Given the description of an element on the screen output the (x, y) to click on. 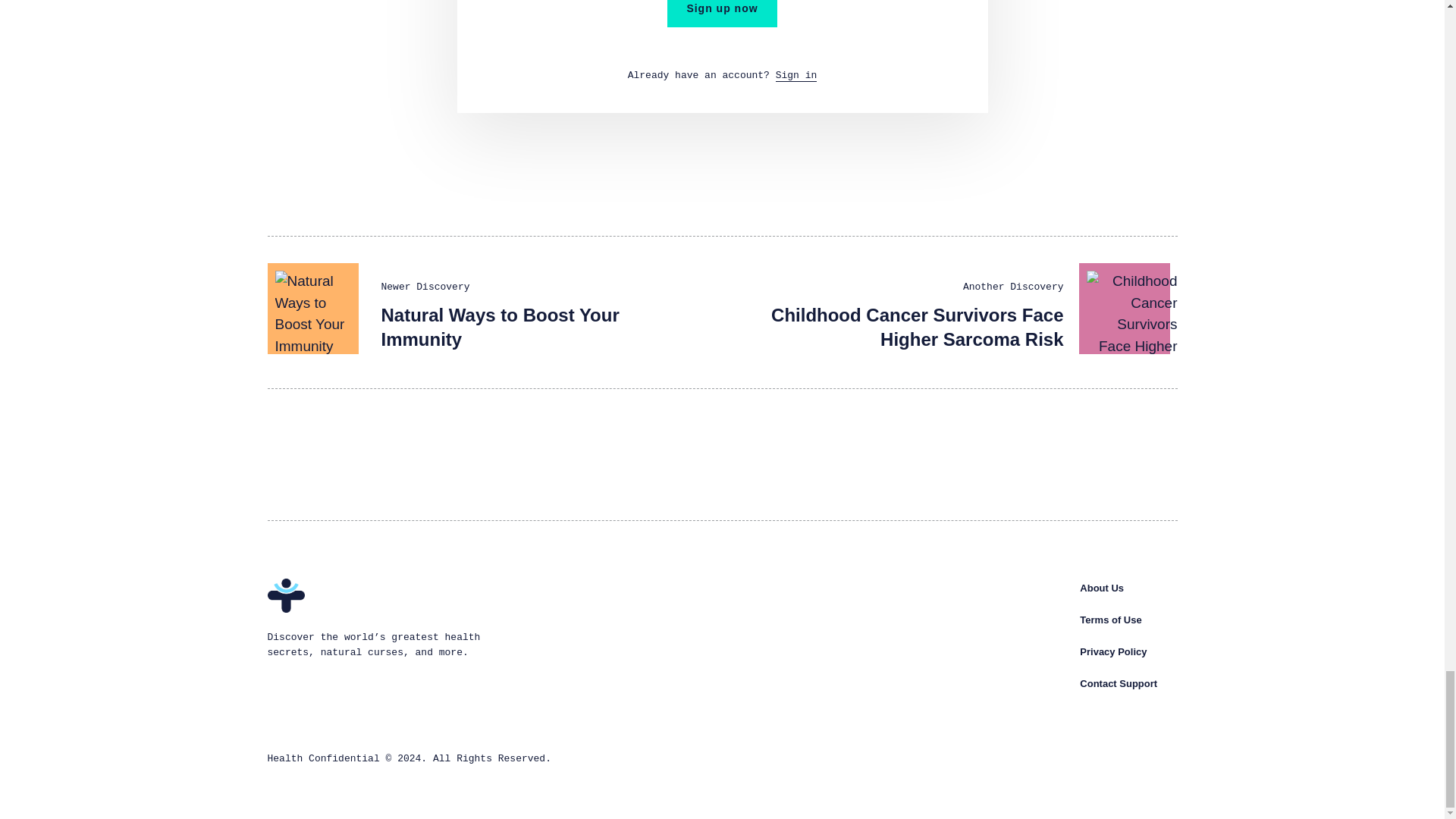
Sign in (796, 75)
Childhood Cancer Survivors Face Higher Sarcoma Risk (916, 326)
Terms of Use (1110, 619)
About Us (1102, 587)
Sign up now (721, 13)
Natural Ways to Boost Your Immunity (499, 326)
Privacy Policy (1113, 651)
Contact Support (1118, 683)
